Given the description of an element on the screen output the (x, y) to click on. 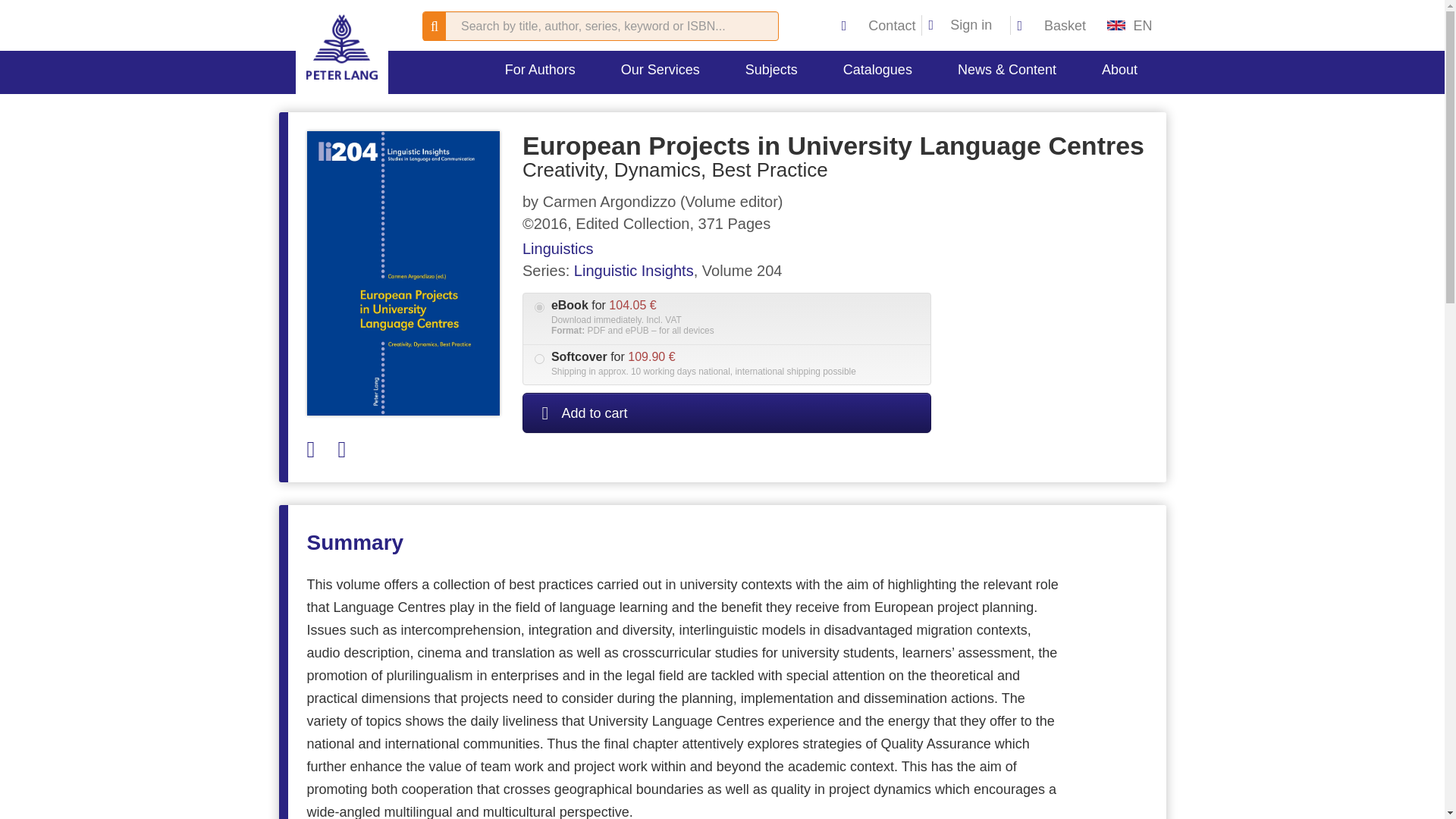
The Arts (785, 103)
Services Overview (651, 112)
Subjects Overview (785, 112)
Libraries (651, 103)
2024 Emerging Scholars Competition (542, 132)
Publish with us (542, 112)
Contact (879, 25)
Linguistics (894, 103)
Basket (1051, 25)
ebook:1053278 (539, 307)
